Given the description of an element on the screen output the (x, y) to click on. 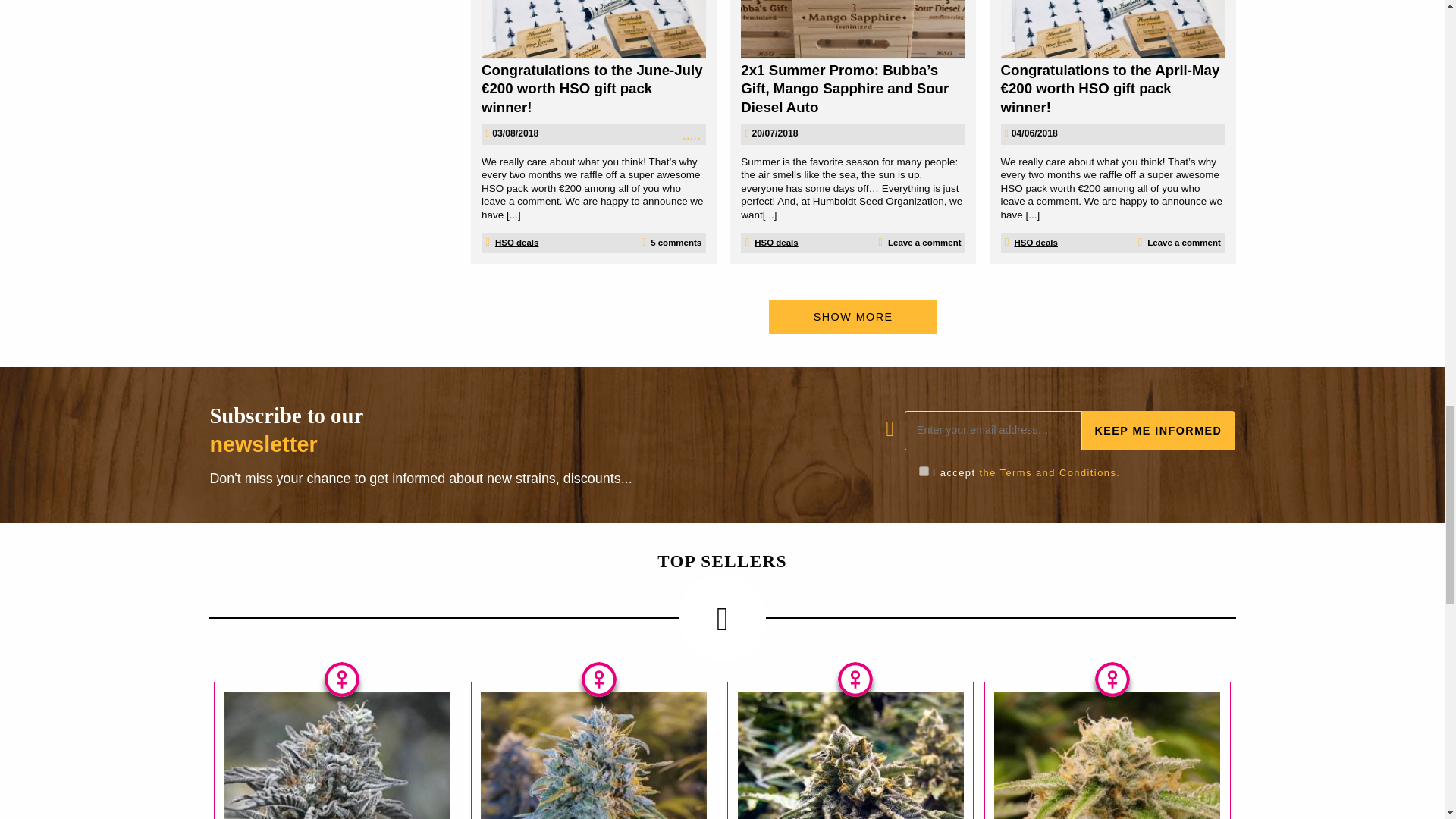
on (923, 470)
